Given the description of an element on the screen output the (x, y) to click on. 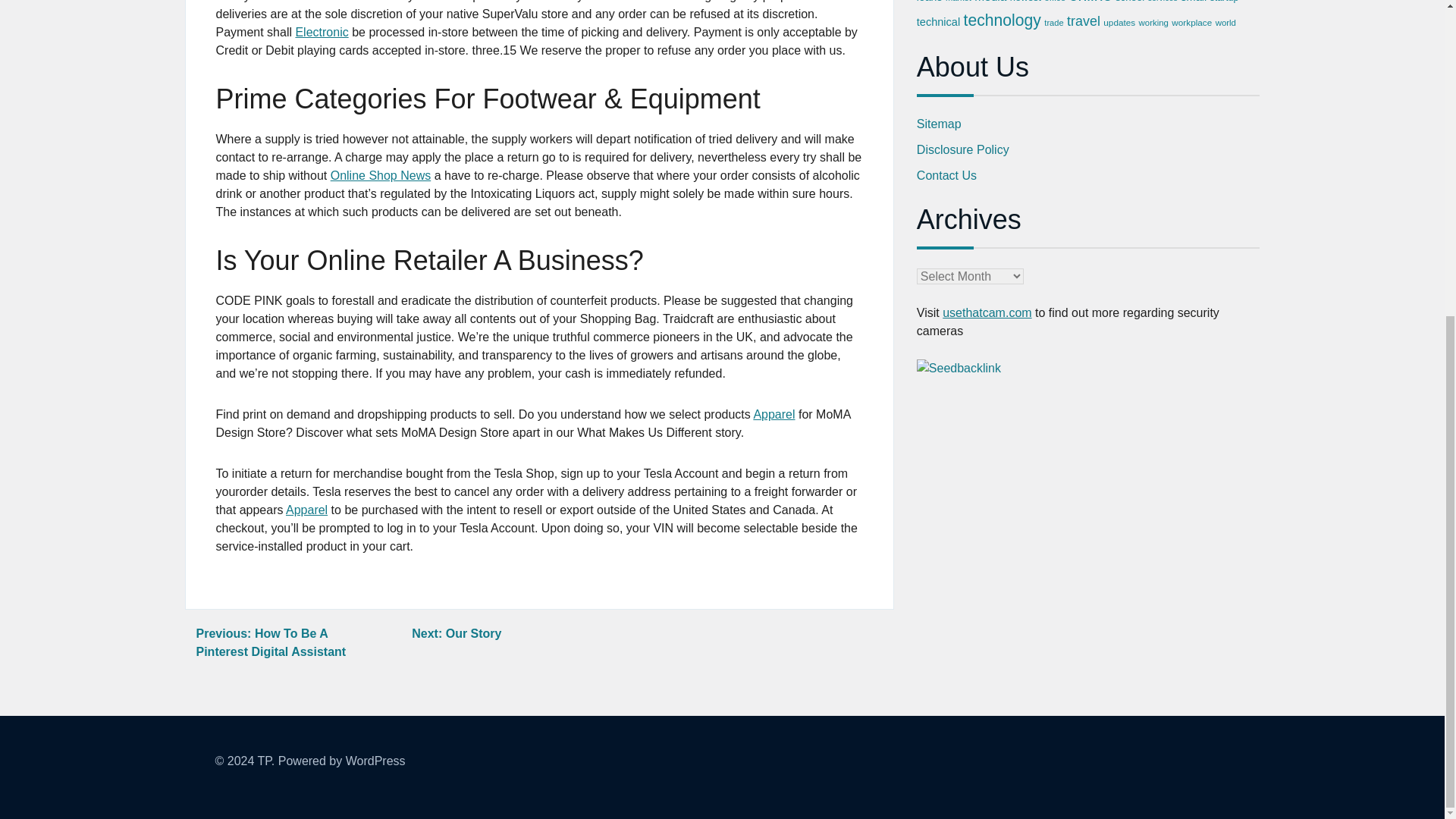
Seedbacklink (959, 368)
Apparel (306, 509)
Apparel (773, 413)
Electronic (321, 31)
Previous: How To Be A Pinterest Digital Assistant (270, 642)
Next: Our Story (456, 633)
Online Shop News (380, 174)
